Given the description of an element on the screen output the (x, y) to click on. 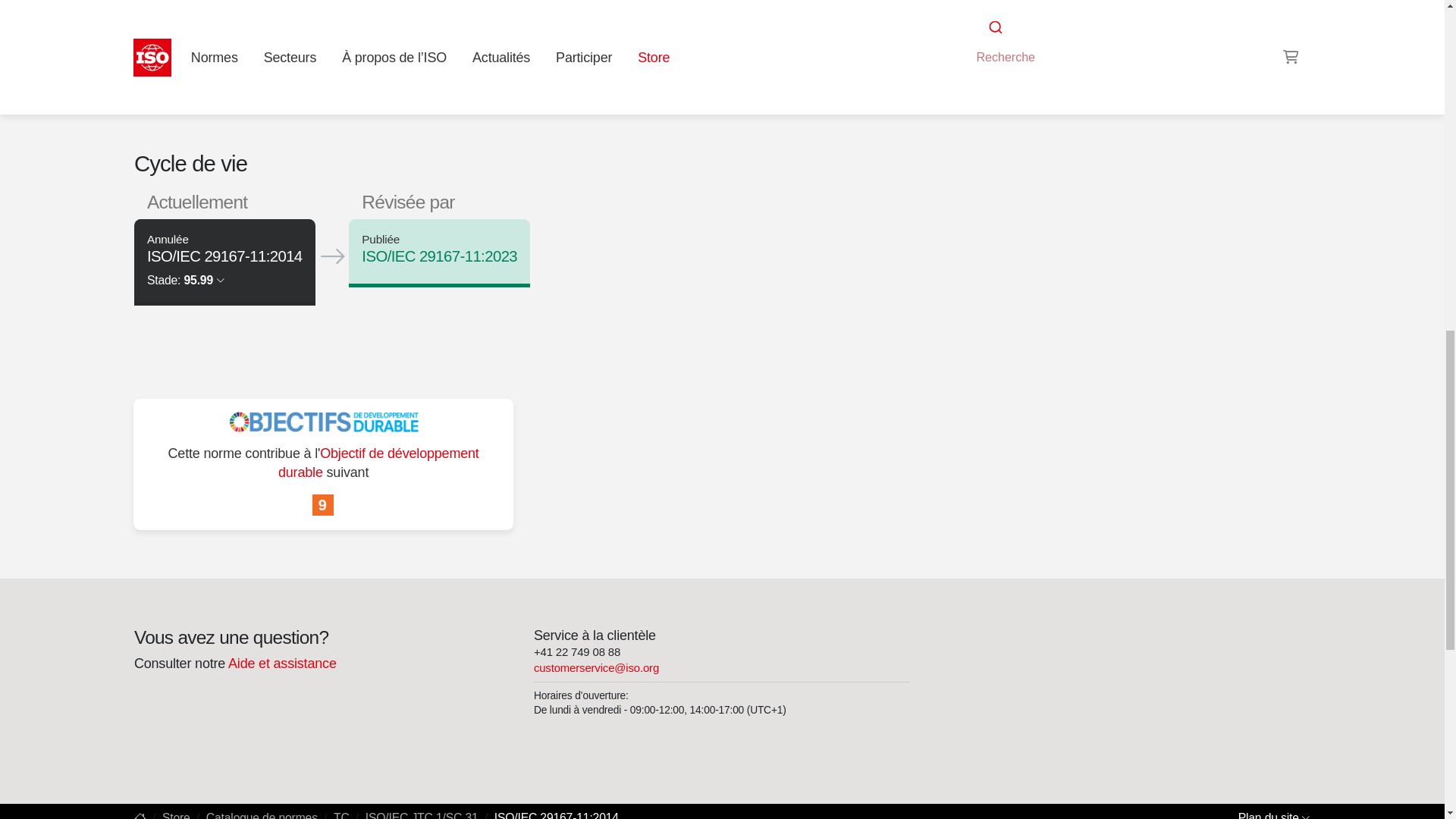
Stade: 95.99 (185, 278)
help-support (281, 663)
Industrie, innovation et infrastructure (323, 505)
RSS (956, 26)
35.040.50 (997, 2)
